Given the description of an element on the screen output the (x, y) to click on. 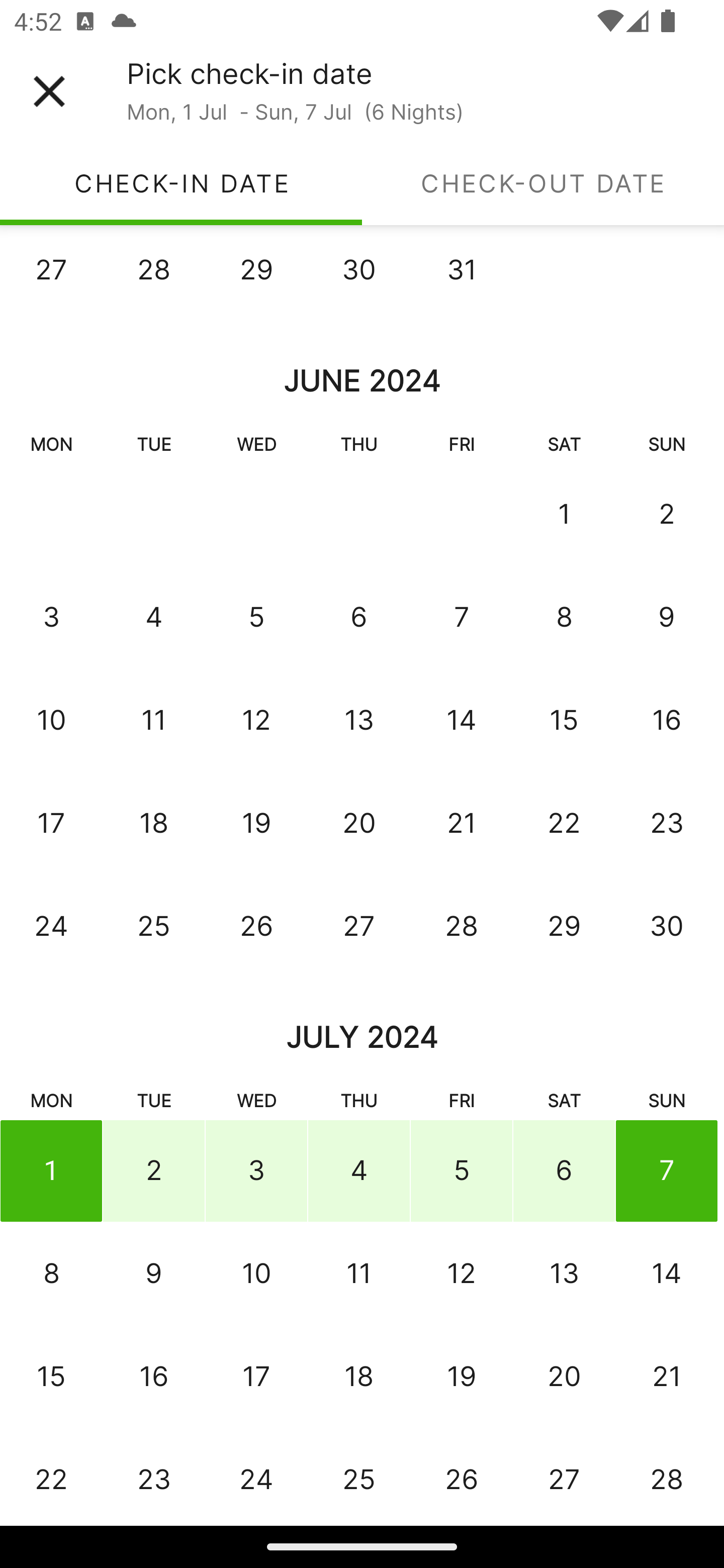
Check-out Date CHECK-OUT DATE (543, 183)
